Given the description of an element on the screen output the (x, y) to click on. 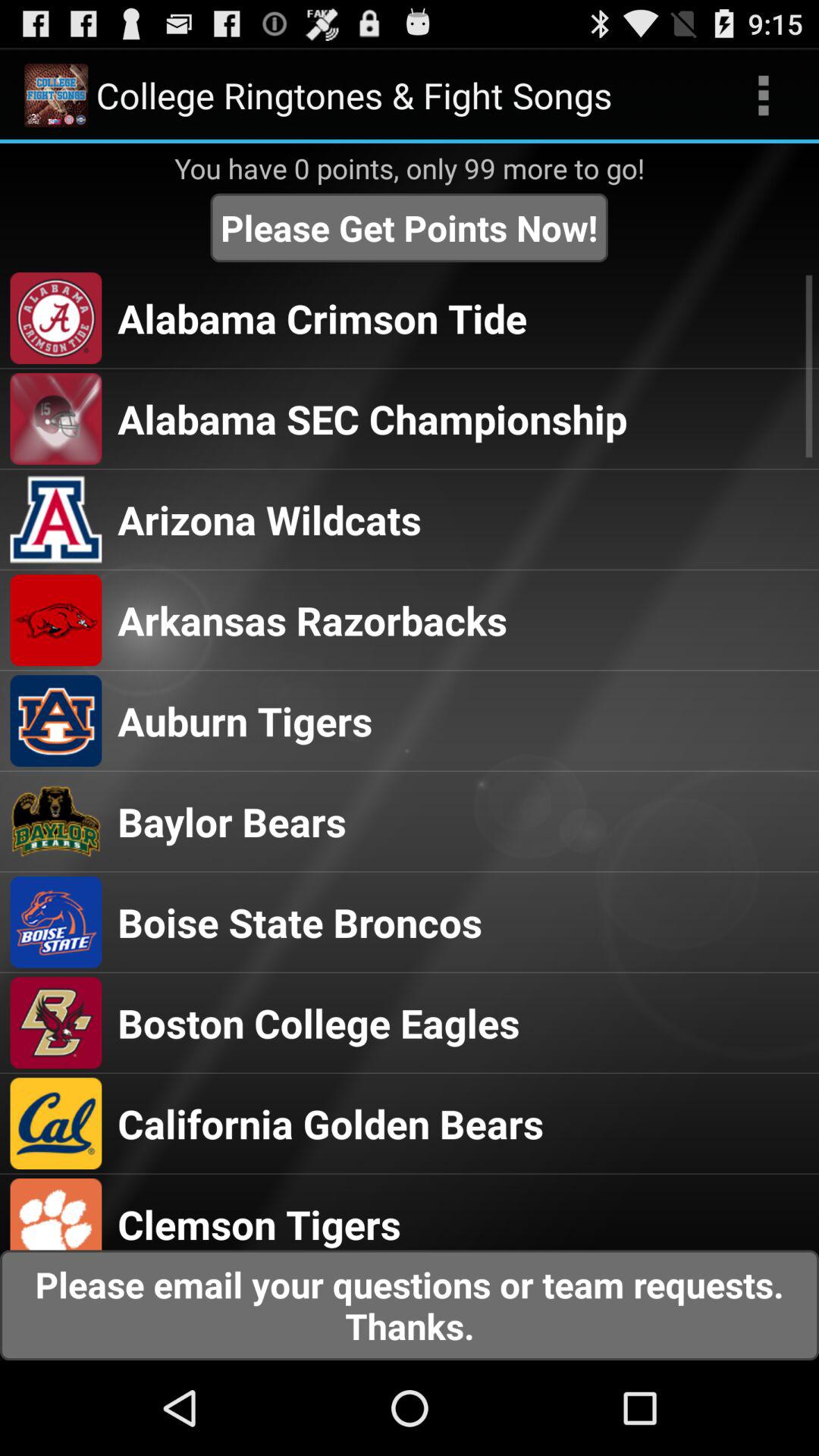
flip to the boise state broncos item (299, 921)
